Given the description of an element on the screen output the (x, y) to click on. 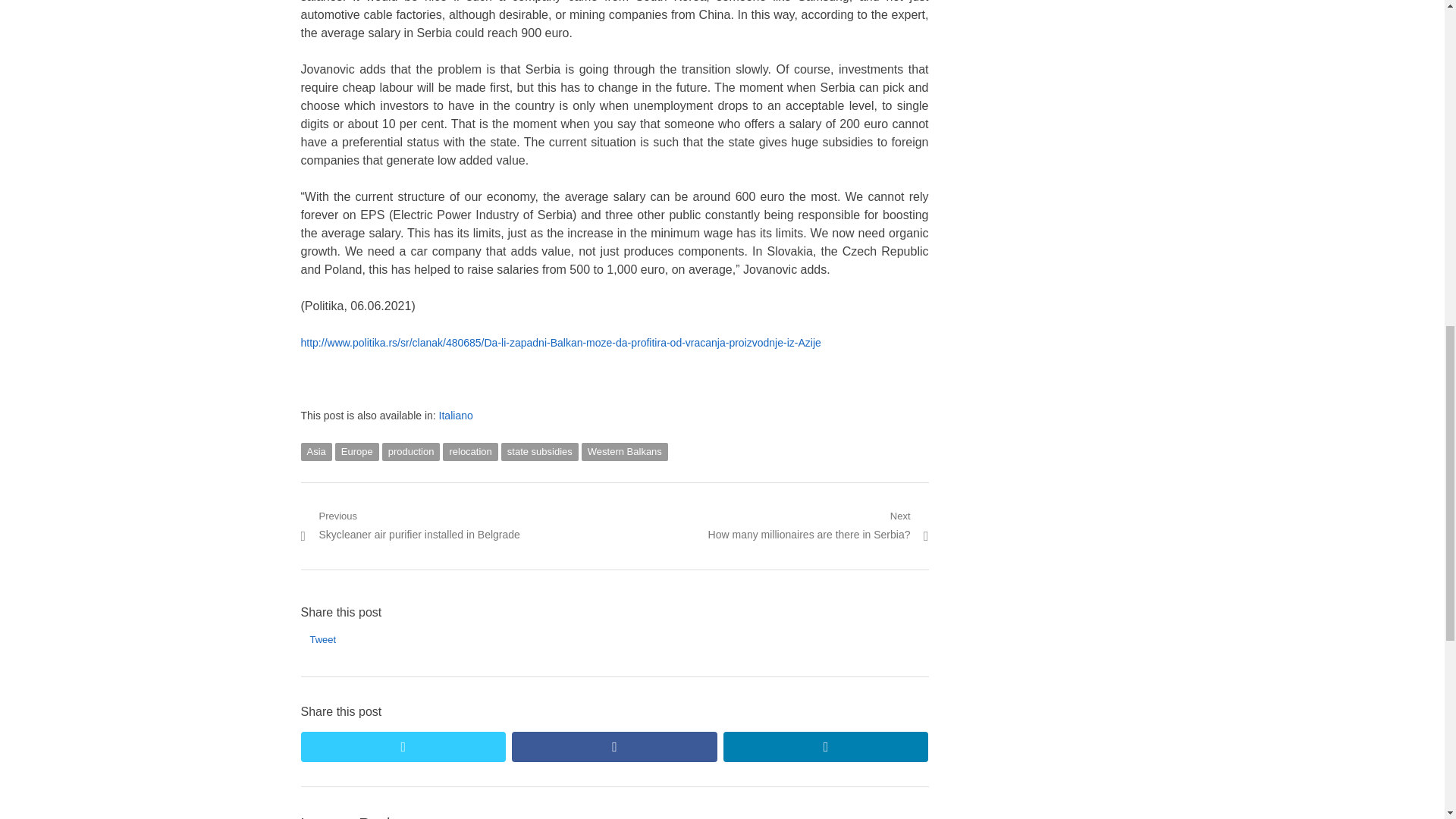
relocation (469, 452)
Asia (817, 525)
Share on twitter (315, 452)
state subsidies (402, 747)
Share on LinkedIn (539, 452)
production (825, 747)
Western Balkans (411, 452)
facebook (624, 452)
Italiano (614, 747)
